Given the description of an element on the screen output the (x, y) to click on. 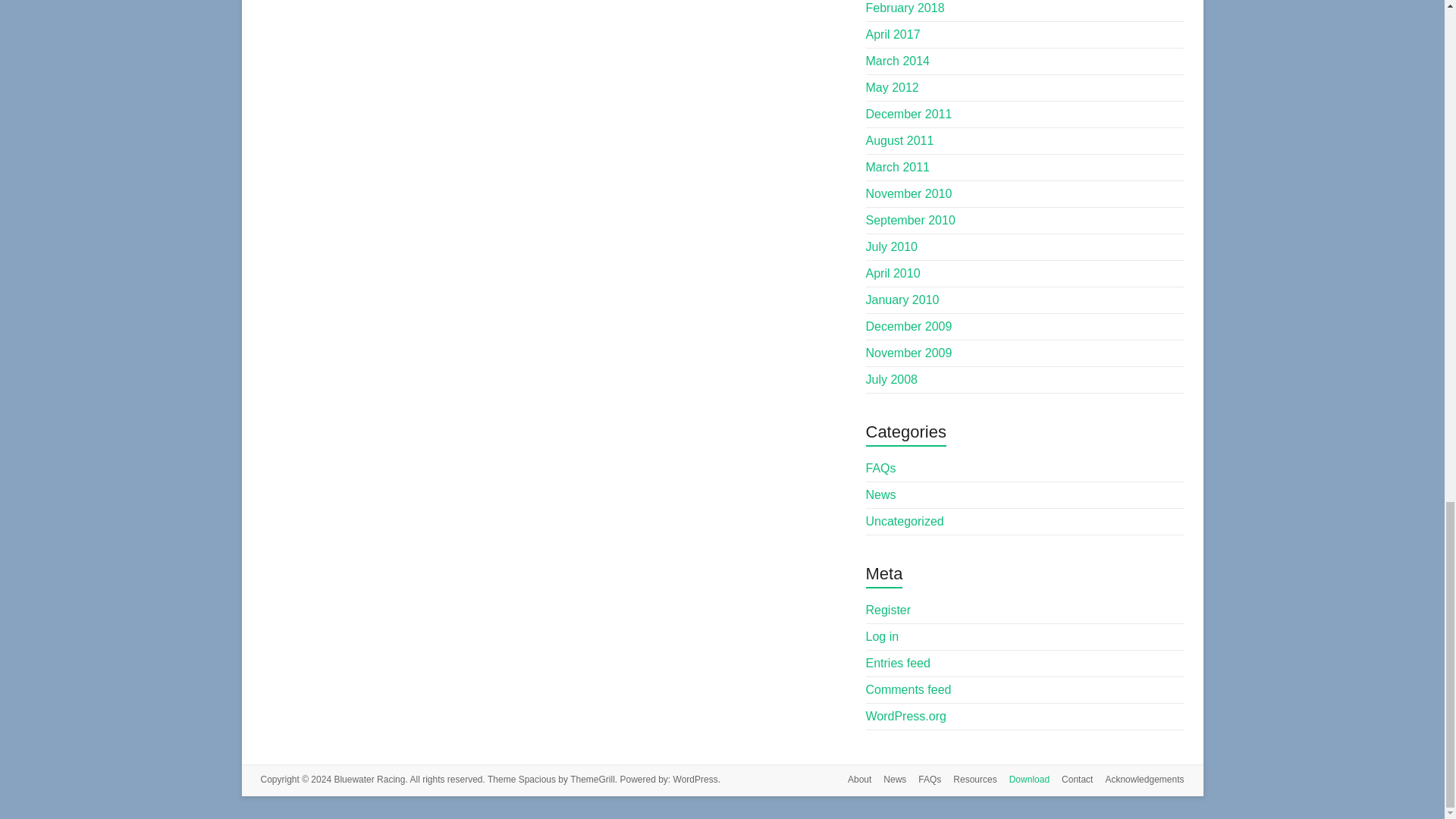
February 2018 (905, 7)
September 2010 (910, 219)
March 2011 (898, 166)
May 2012 (892, 87)
Bluewater Racing (368, 778)
August 2011 (900, 140)
January 2010 (902, 299)
Spacious (537, 778)
April 2017 (893, 33)
WordPress (694, 778)
July 2010 (892, 246)
April 2010 (893, 273)
December 2011 (909, 113)
March 2014 (898, 60)
November 2010 (909, 193)
